Given the description of an element on the screen output the (x, y) to click on. 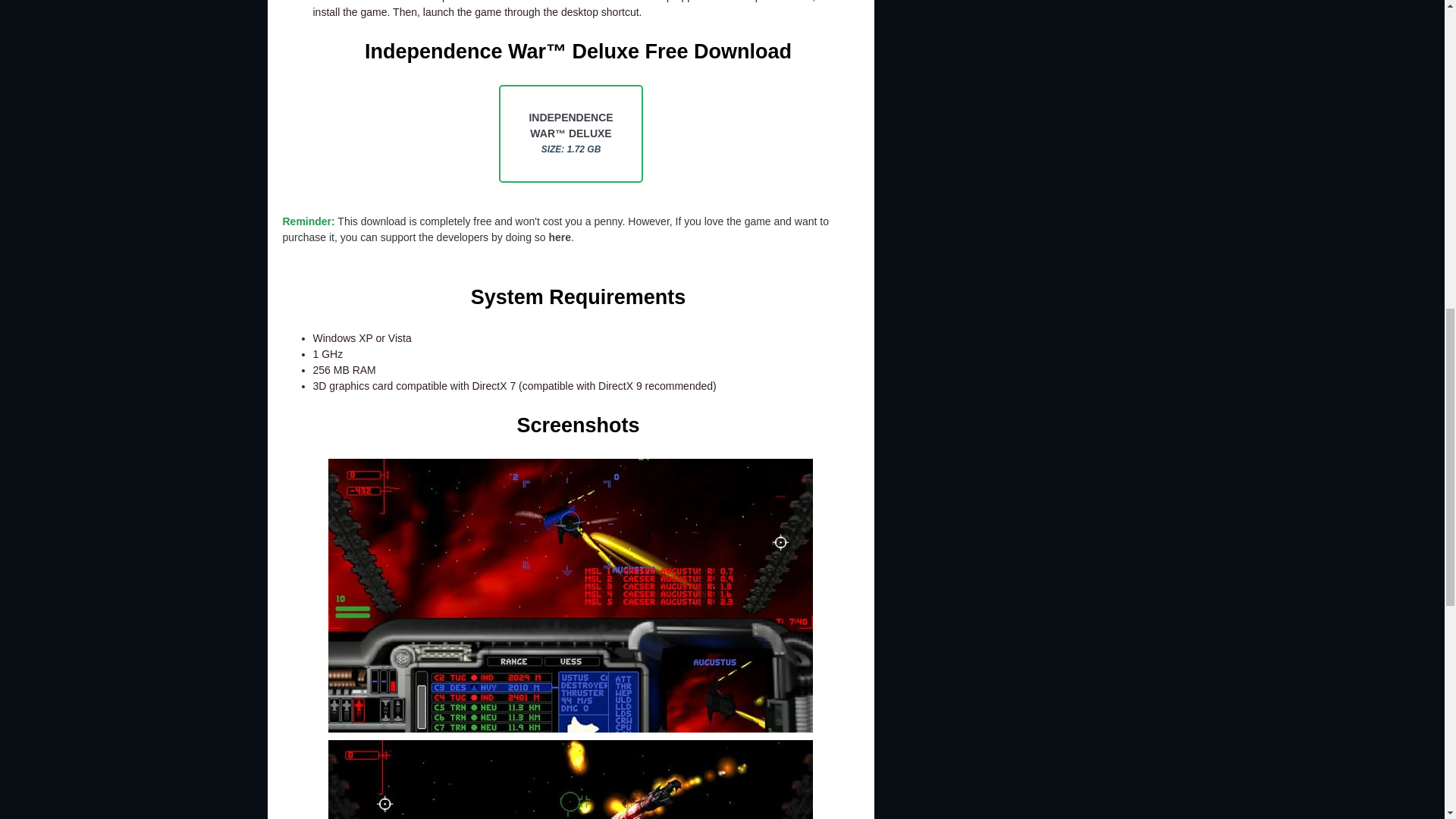
here (560, 236)
